Given the description of an element on the screen output the (x, y) to click on. 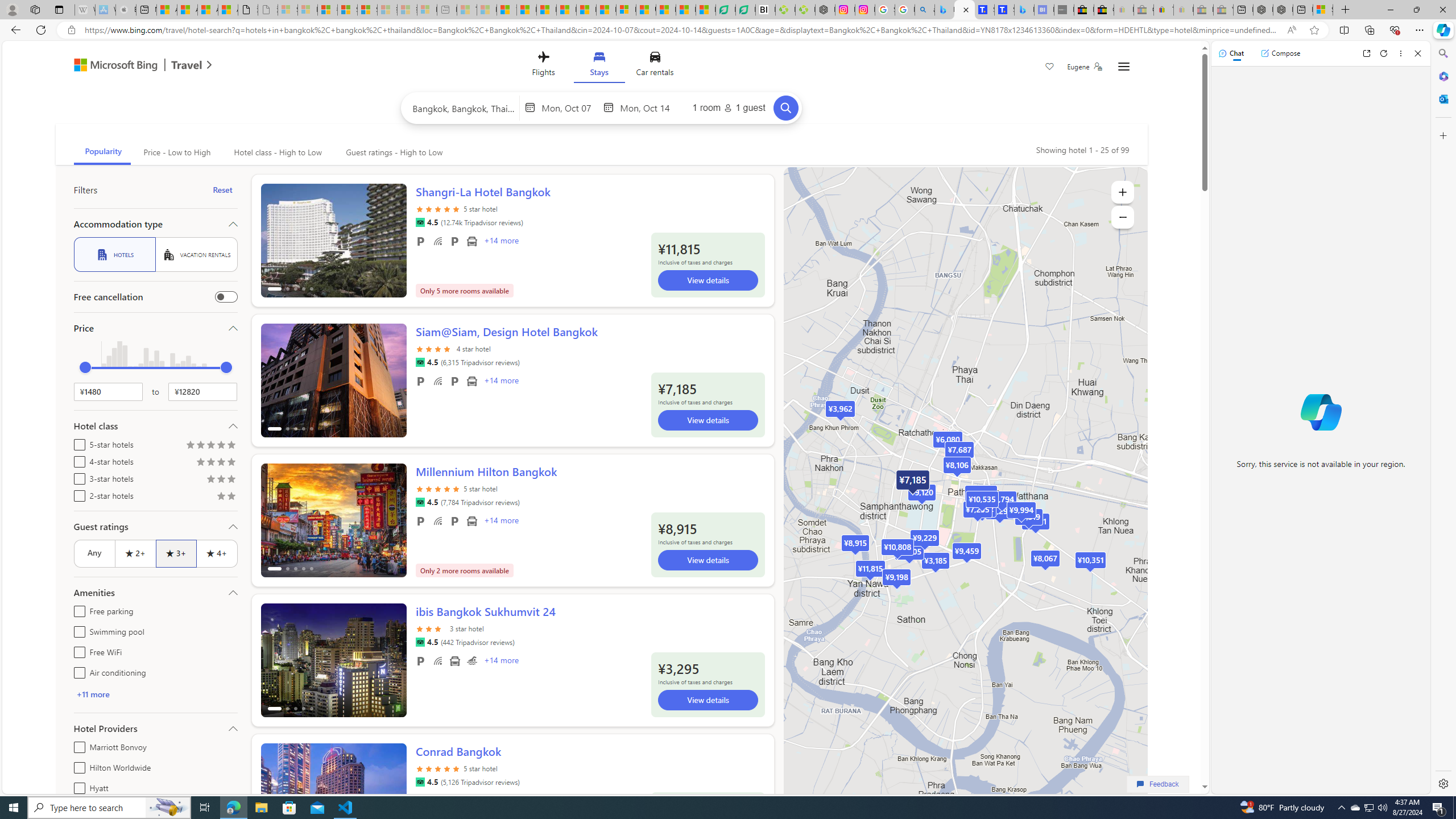
Eugene (1084, 66)
Sign in to your Microsoft account (1322, 9)
2+ (135, 553)
+11 more (154, 694)
Air conditioning (76, 670)
Microsoft Bing (110, 65)
Marine life - MSN - Sleeping (486, 9)
alabama high school quarterback dies - Search (924, 9)
ScrollLeft (273, 795)
Flights (542, 65)
